Given the description of an element on the screen output the (x, y) to click on. 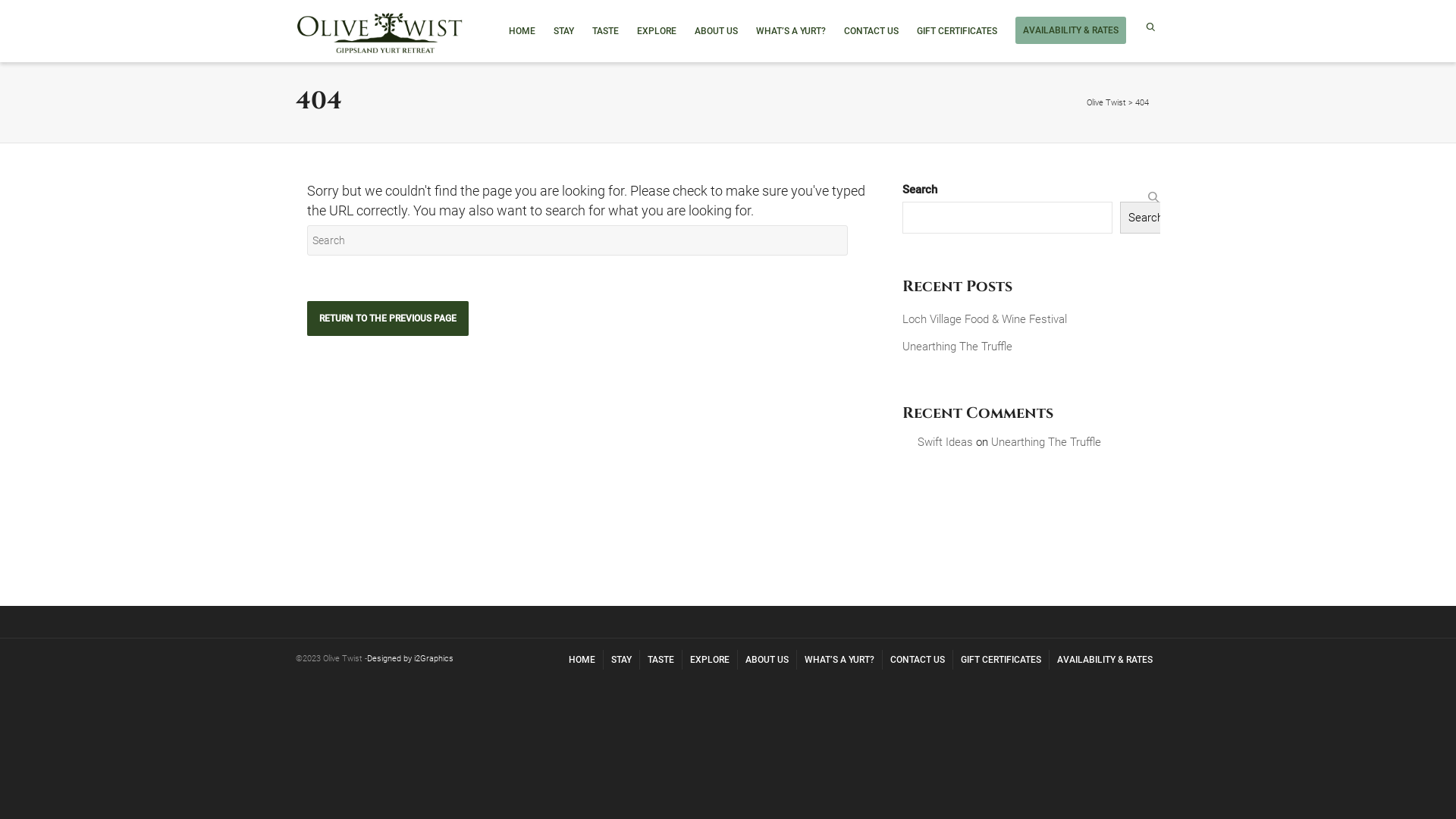
GIFT CERTIFICATES Element type: text (956, 31)
RETURN TO THE PREVIOUS PAGE Element type: text (387, 318)
Unearthing The Truffle Element type: text (1036, 346)
Olive Twist Element type: text (1106, 102)
AVAILABILITY & RATES Element type: text (1104, 659)
404 Element type: text (1141, 102)
Swift Ideas Element type: text (944, 441)
TASTE Element type: text (605, 31)
Designed by i2Graphics Element type: text (410, 658)
ABOUT US Element type: text (715, 31)
GIFT CERTIFICATES Element type: text (1000, 659)
STAY Element type: text (621, 659)
CONTACT US Element type: text (871, 31)
HOME Element type: text (581, 659)
Loch Village Food & Wine Festival Element type: text (1036, 318)
Search Element type: text (1145, 217)
STAY Element type: text (563, 31)
TASTE Element type: text (660, 659)
Unearthing The Truffle Element type: text (1046, 441)
CONTACT US Element type: text (917, 659)
HOME Element type: text (521, 31)
ABOUT US Element type: text (766, 659)
EXPLORE Element type: text (709, 659)
AVAILABILITY & RATES Element type: text (1070, 29)
EXPLORE Element type: text (656, 31)
